Given the description of an element on the screen output the (x, y) to click on. 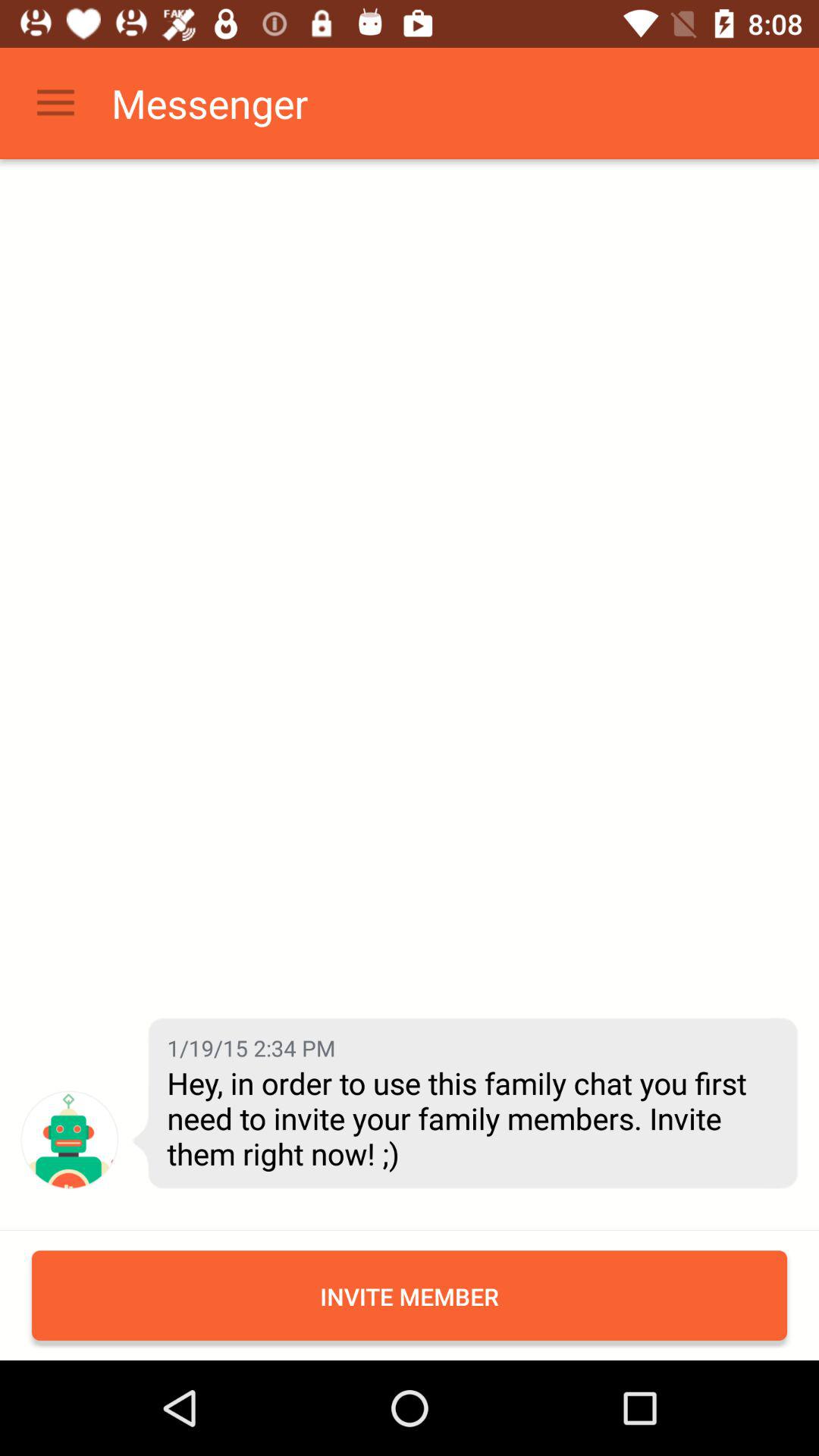
flip to 1 19 15 (251, 1047)
